Given the description of an element on the screen output the (x, y) to click on. 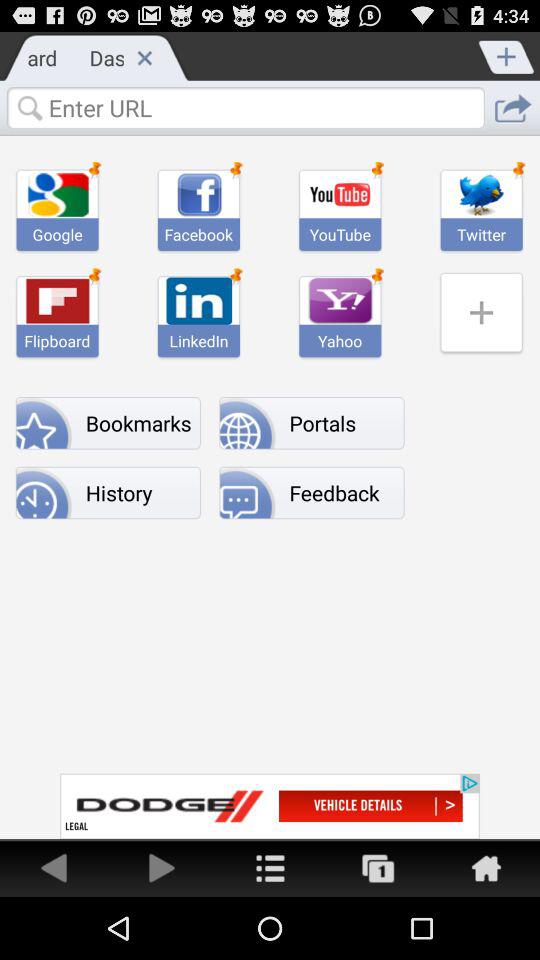
text box to enter url (245, 107)
